Given the description of an element on the screen output the (x, y) to click on. 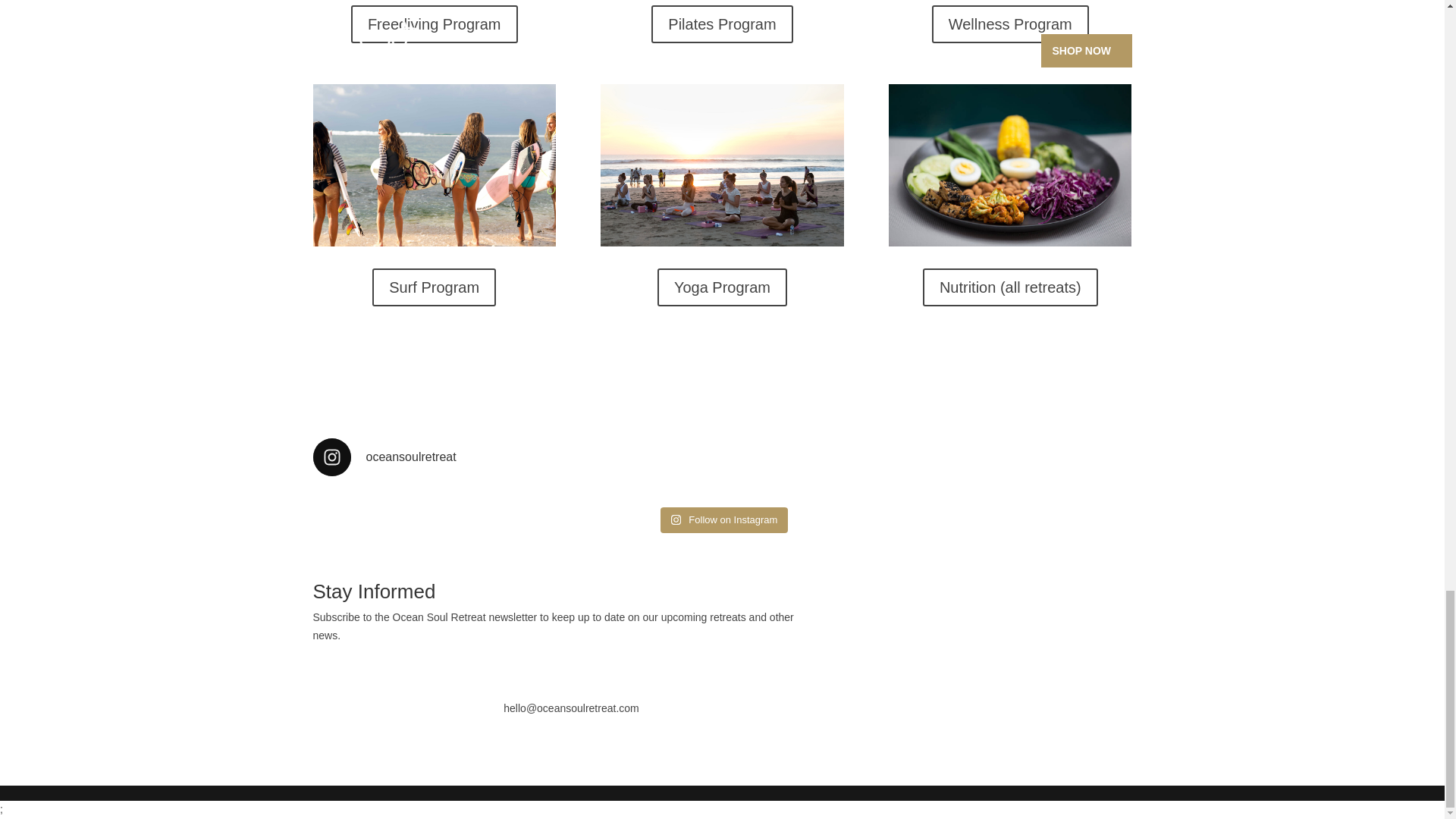
oceansoulretreat (722, 456)
Yoga-sunset1-SFW (721, 165)
Wholefoods Meal with Corn (1009, 164)
Follow on Facebook (324, 669)
Surf Program (434, 287)
Surf-girls13-SFW (433, 165)
Follow on Pinterest (384, 669)
Pilates Program (721, 23)
Follow on Instagram (725, 519)
Freediving Program (434, 23)
